Given the description of an element on the screen output the (x, y) to click on. 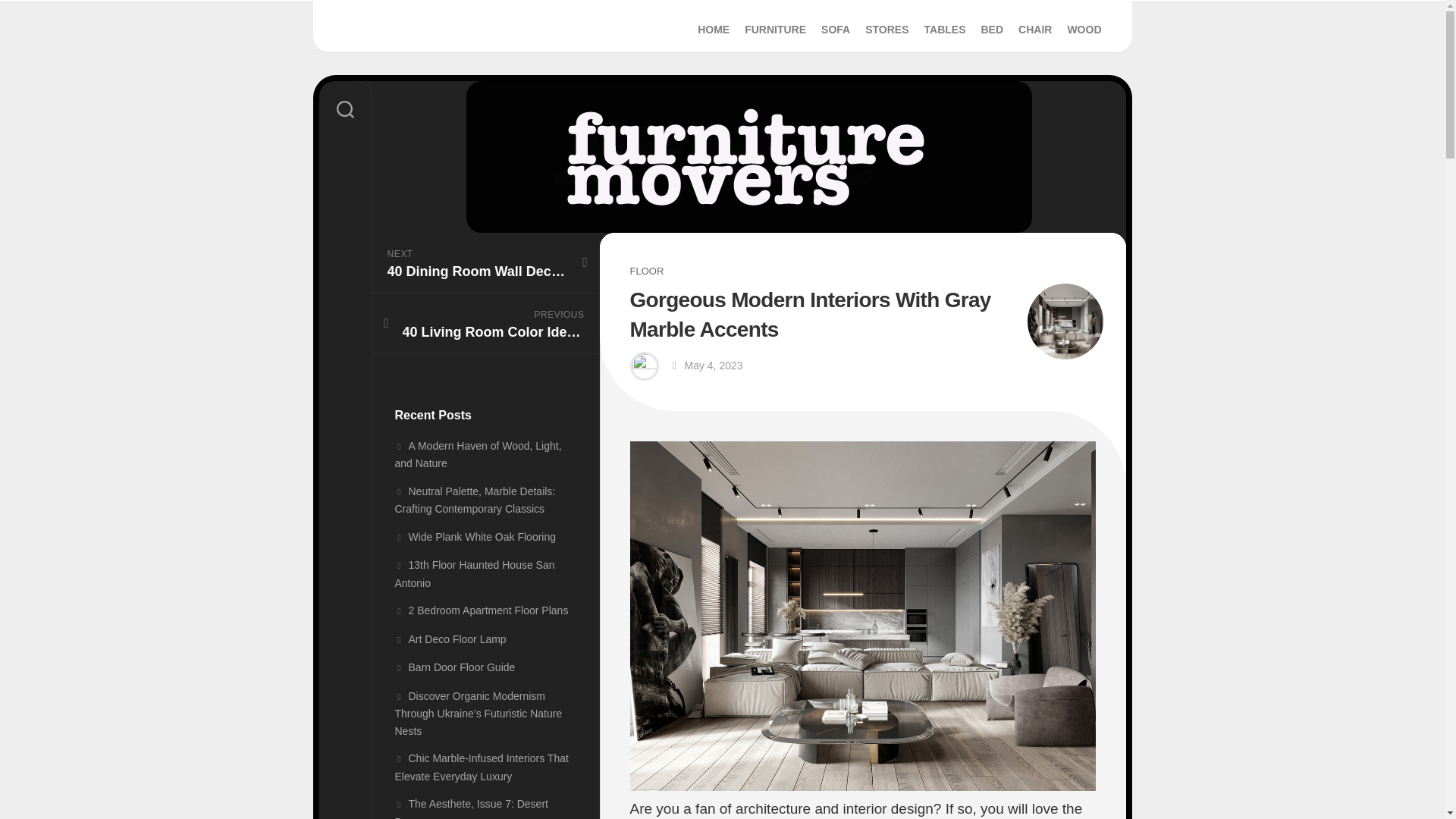
BED (991, 29)
TABLES (945, 29)
Gorgeous Modern Interiors With Gray Marble Accents (1064, 321)
HOME (713, 29)
SOFA (835, 29)
FLOOR (722, 26)
Gorgeous Modern Interiors With Gray Marble Accents (645, 270)
WOOD (775, 29)
STORES (1083, 29)
CHAIR (886, 29)
